Given the description of an element on the screen output the (x, y) to click on. 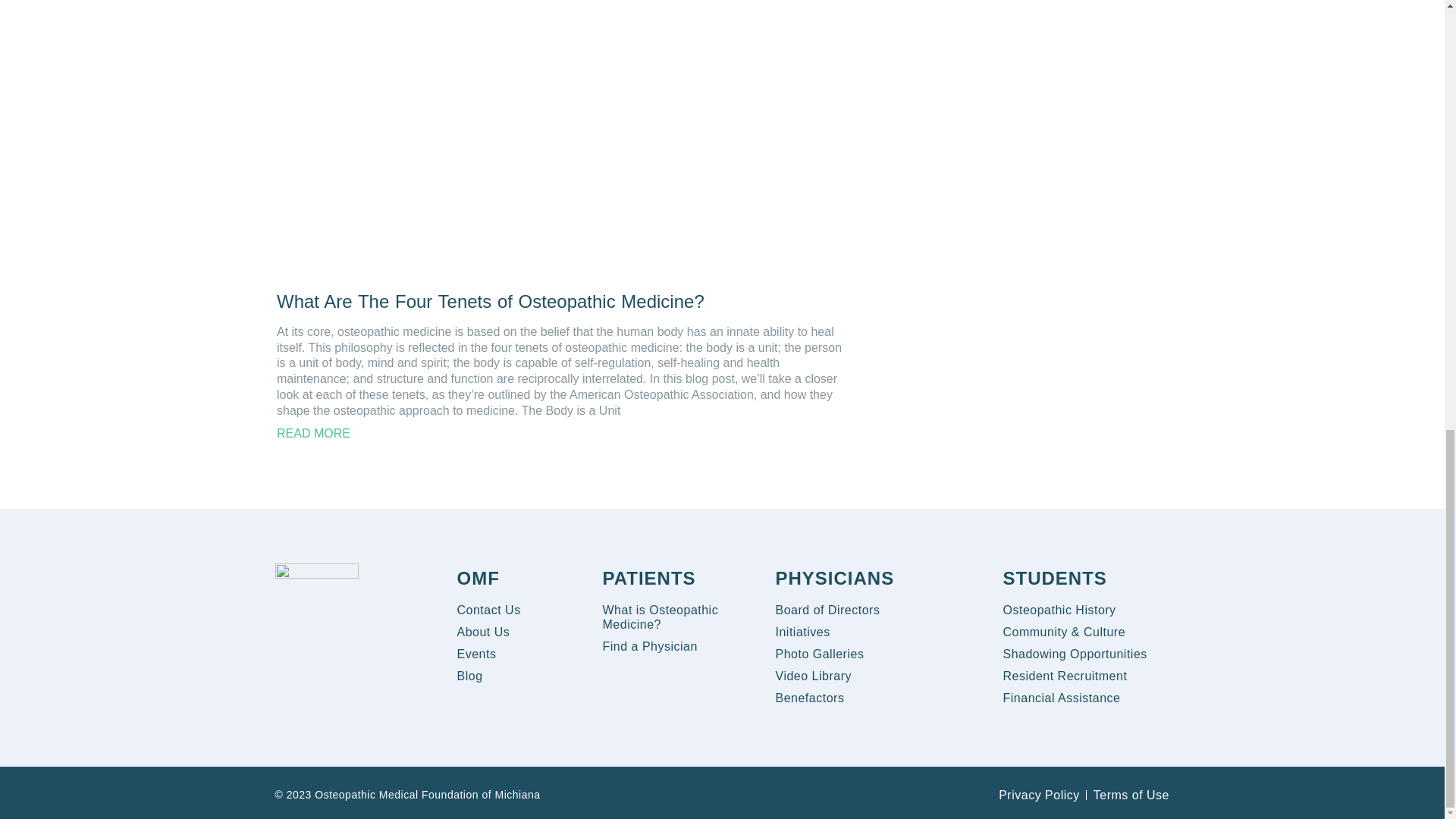
PHYSICIANS (833, 578)
Blog (469, 676)
Video Library (812, 676)
Financial Assistance (1061, 698)
Photo Galleries (818, 653)
OMF (478, 578)
Benefactors (809, 698)
About Us (483, 631)
Board of Directors (826, 609)
What is Osteopathic Medicine? (681, 616)
